Given the description of an element on the screen output the (x, y) to click on. 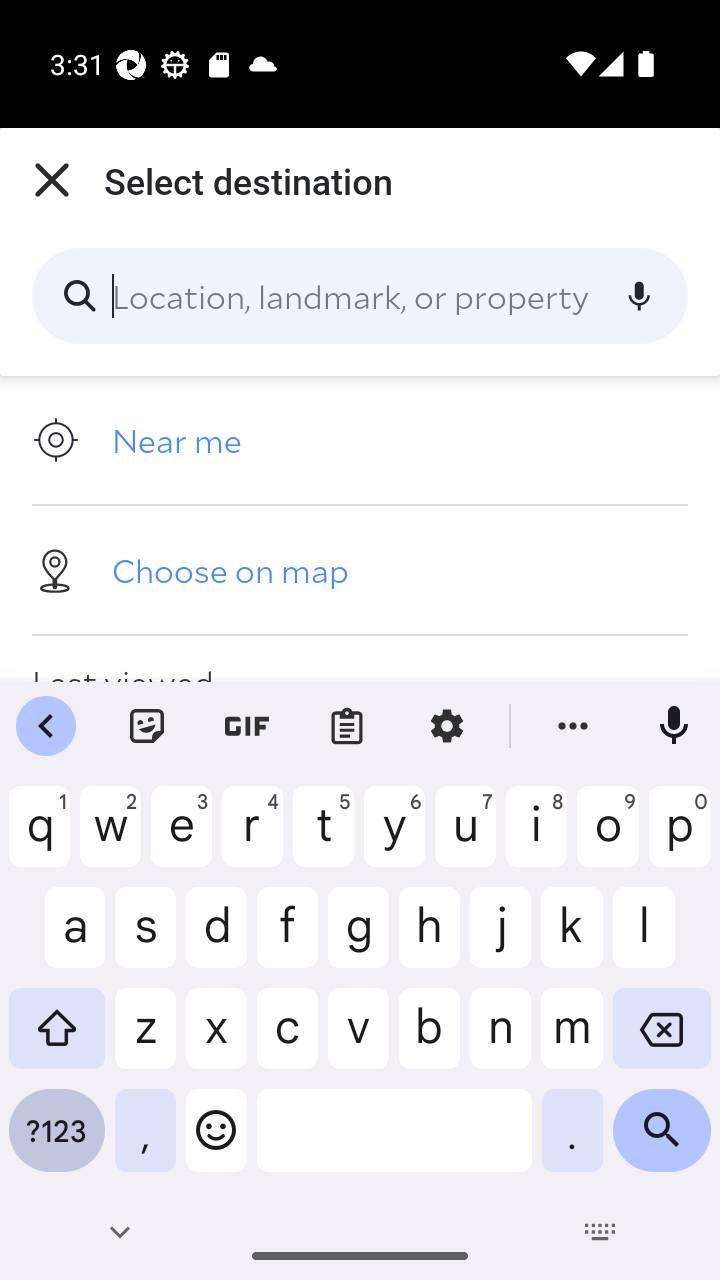
Location, landmark, or property (359, 296)
Near me (360, 440)
Choose on map (360, 569)
